Given the description of an element on the screen output the (x, y) to click on. 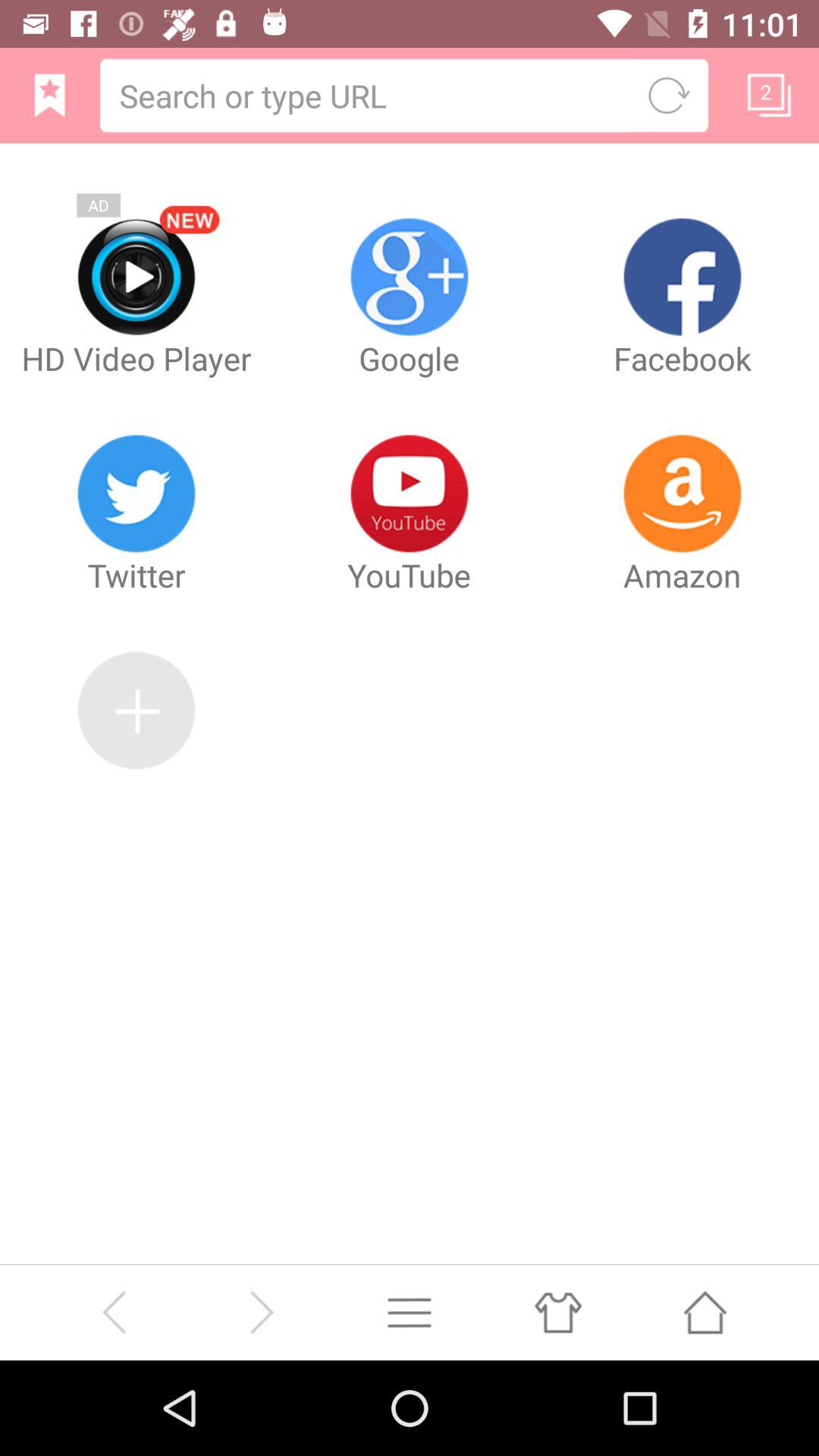
toggle page (769, 94)
